Given the description of an element on the screen output the (x, y) to click on. 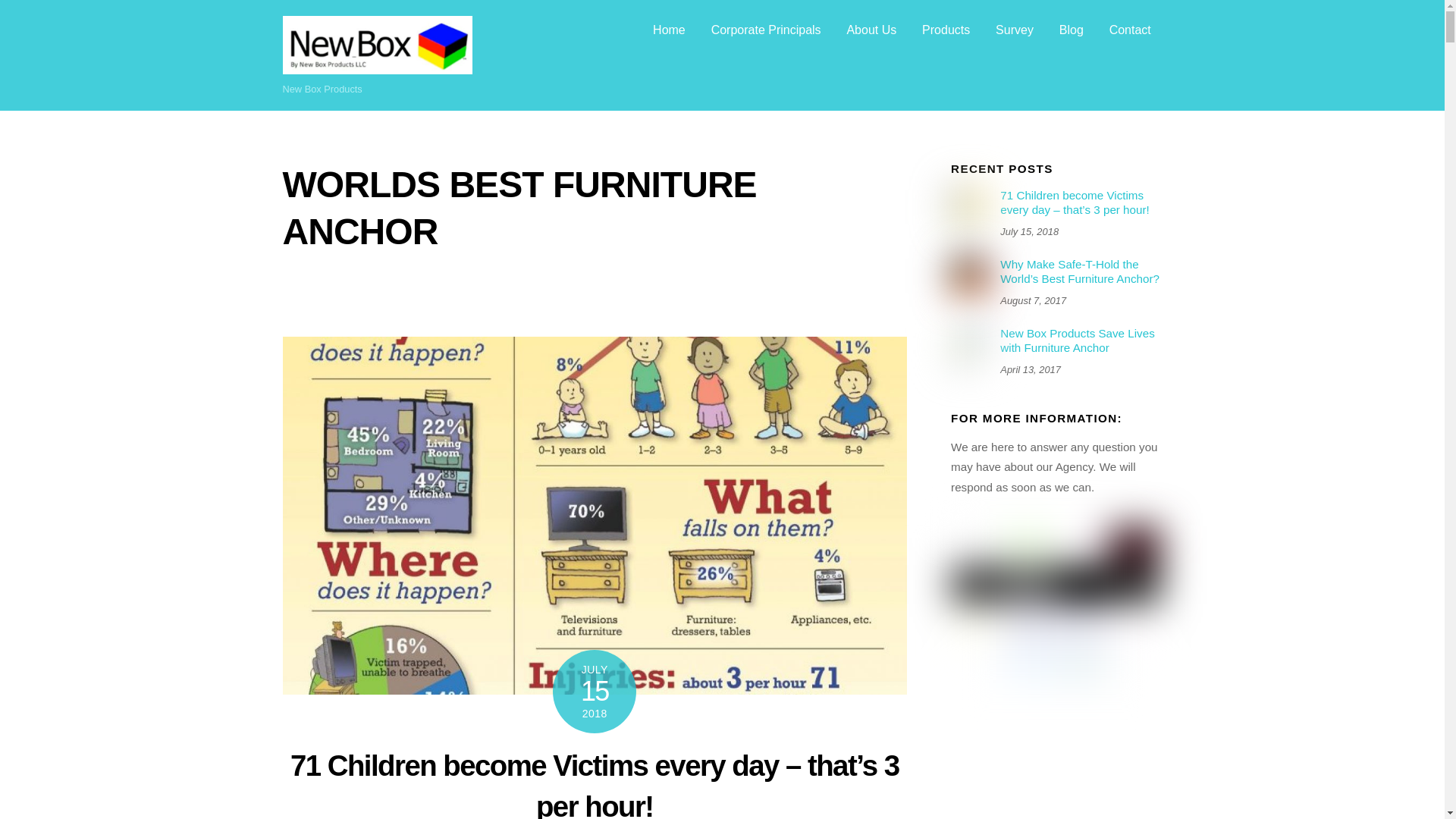
Corporate Principals (766, 30)
New Box Products (376, 66)
Survey (1014, 30)
Drawing Final 2 (969, 344)
About Us (871, 30)
Home (668, 30)
Contact (1130, 30)
New Box Products Save Lives with Furniture Anchor (1055, 340)
Products (945, 30)
1. newest packaging simpler design with baby (969, 275)
